Given the description of an element on the screen output the (x, y) to click on. 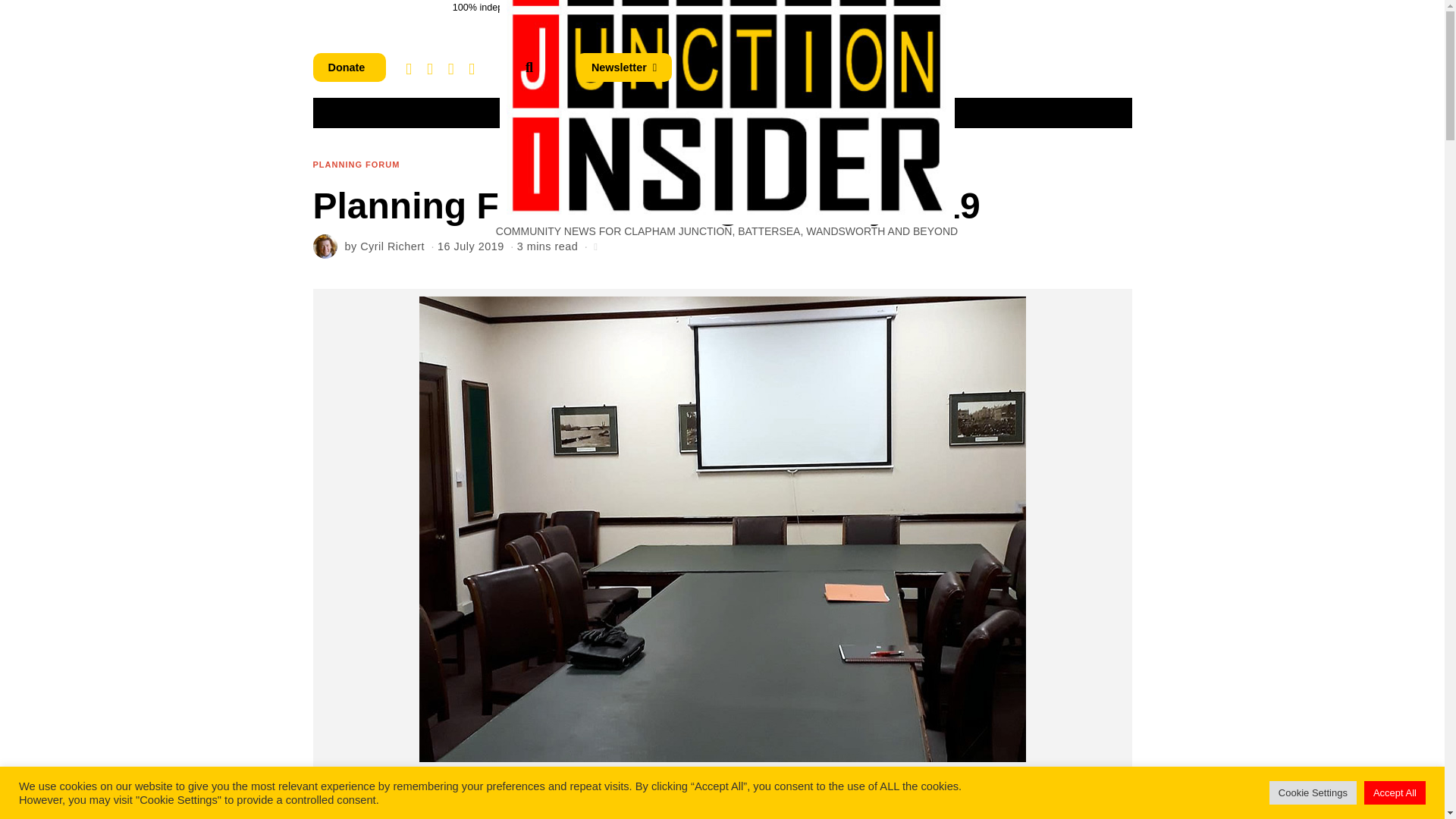
Environment (731, 112)
Others (977, 112)
Education (825, 112)
Donate (349, 67)
Newsletter (623, 67)
Transport (637, 112)
Housing (475, 112)
Business (554, 112)
Home (406, 112)
Council (905, 112)
